Given the description of an element on the screen output the (x, y) to click on. 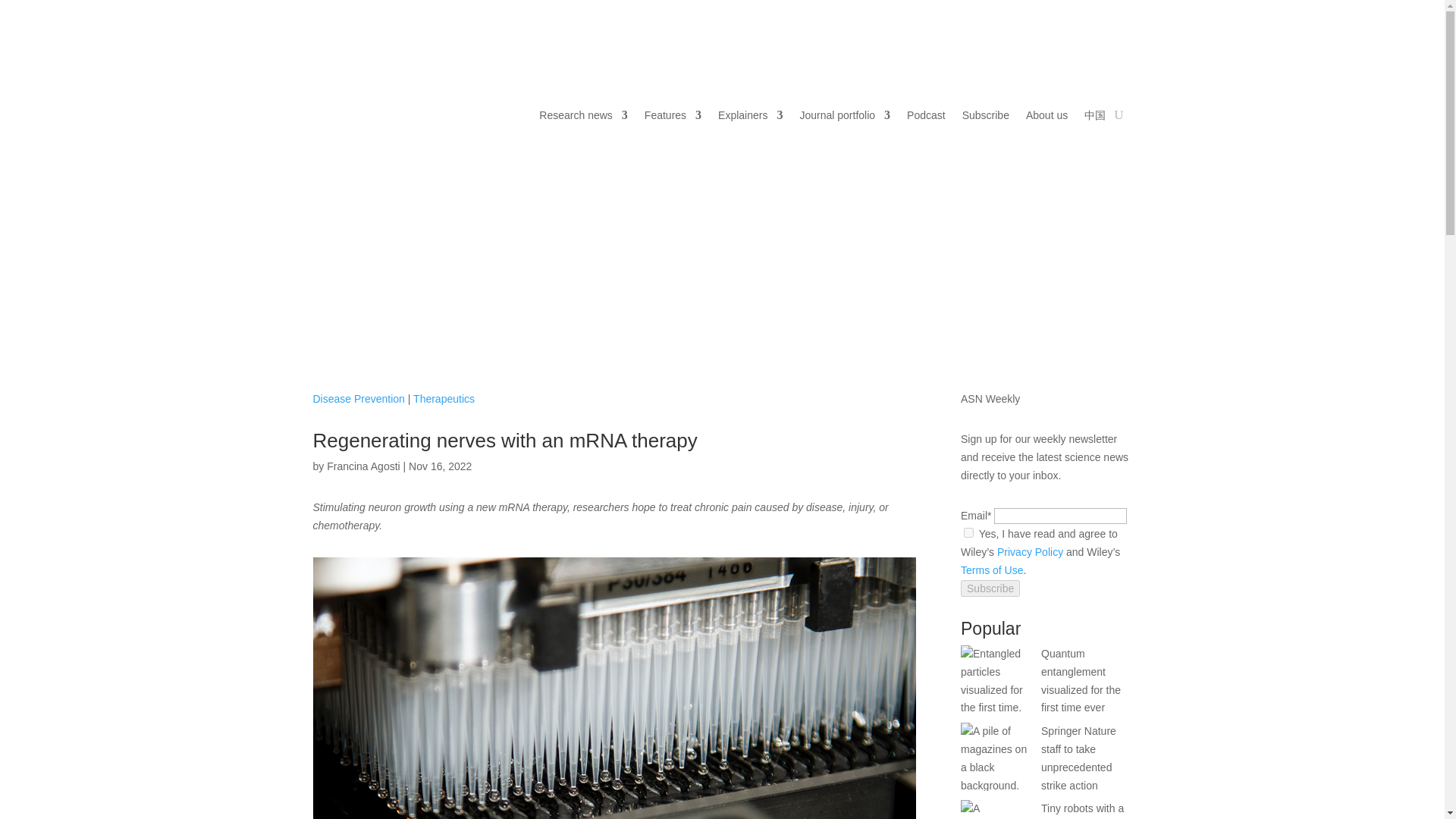
true (968, 532)
Research news (582, 115)
Therapeutics (443, 398)
Posts by Francina Agosti (363, 466)
Journal portfolio (844, 115)
Disease Prevention (358, 398)
Explainers (750, 115)
Terms of Use (991, 570)
Francina Agosti (363, 466)
